Given the description of an element on the screen output the (x, y) to click on. 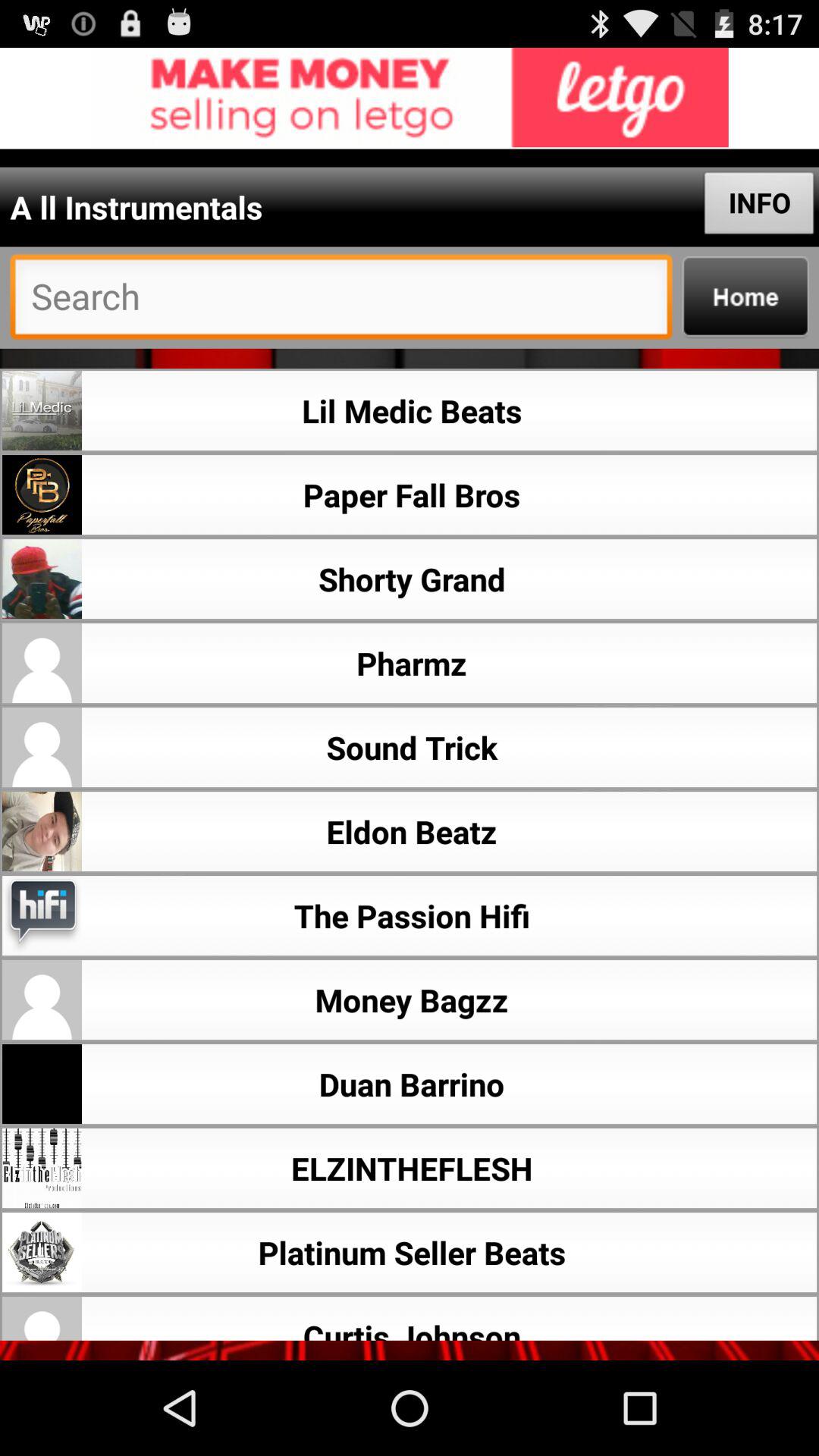
advertisement (409, 98)
